Given the description of an element on the screen output the (x, y) to click on. 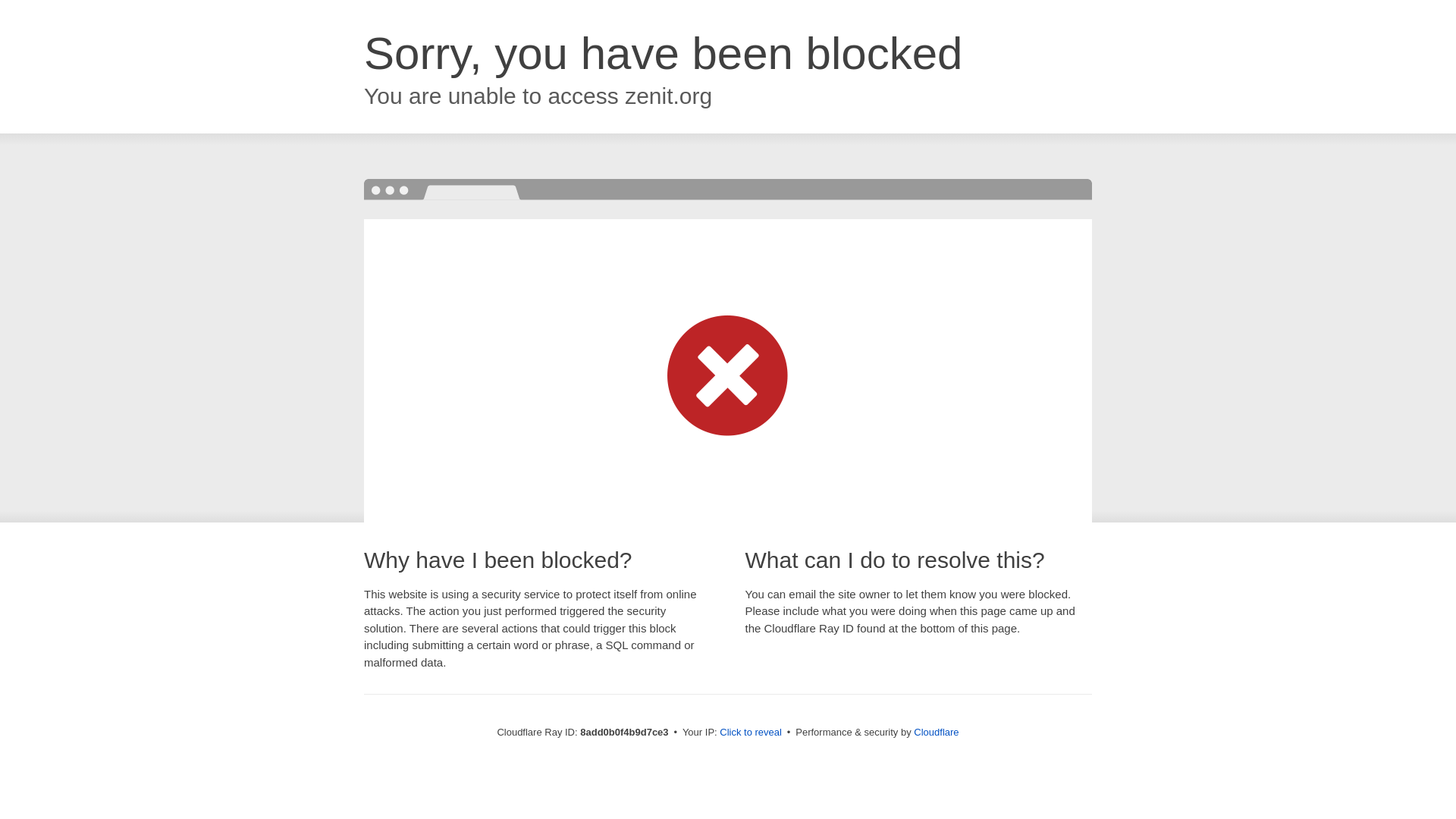
Click to reveal (750, 732)
Cloudflare (936, 731)
